Given the description of an element on the screen output the (x, y) to click on. 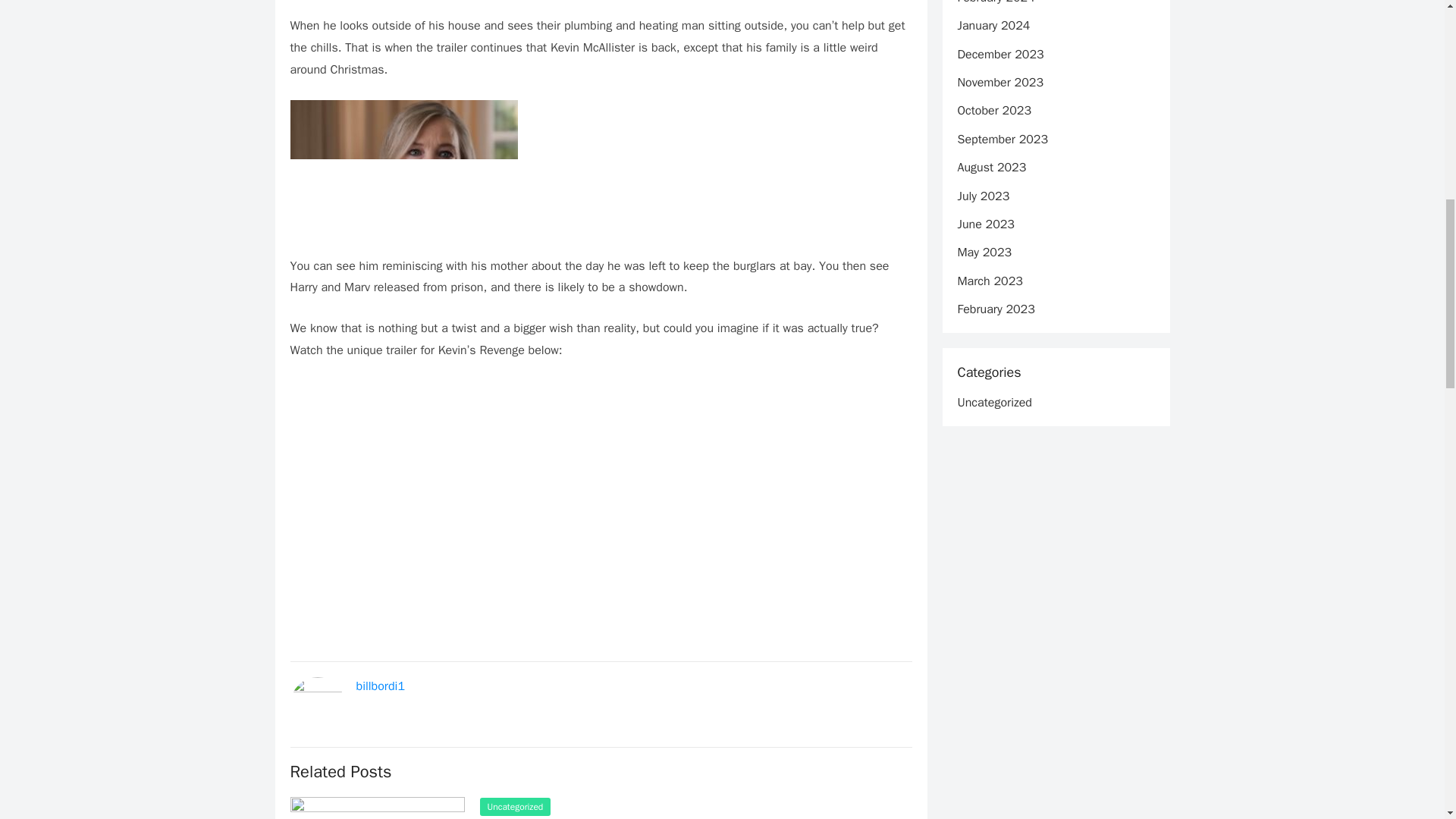
Uncategorized (514, 806)
billbordi1 (381, 685)
